Given the description of an element on the screen output the (x, y) to click on. 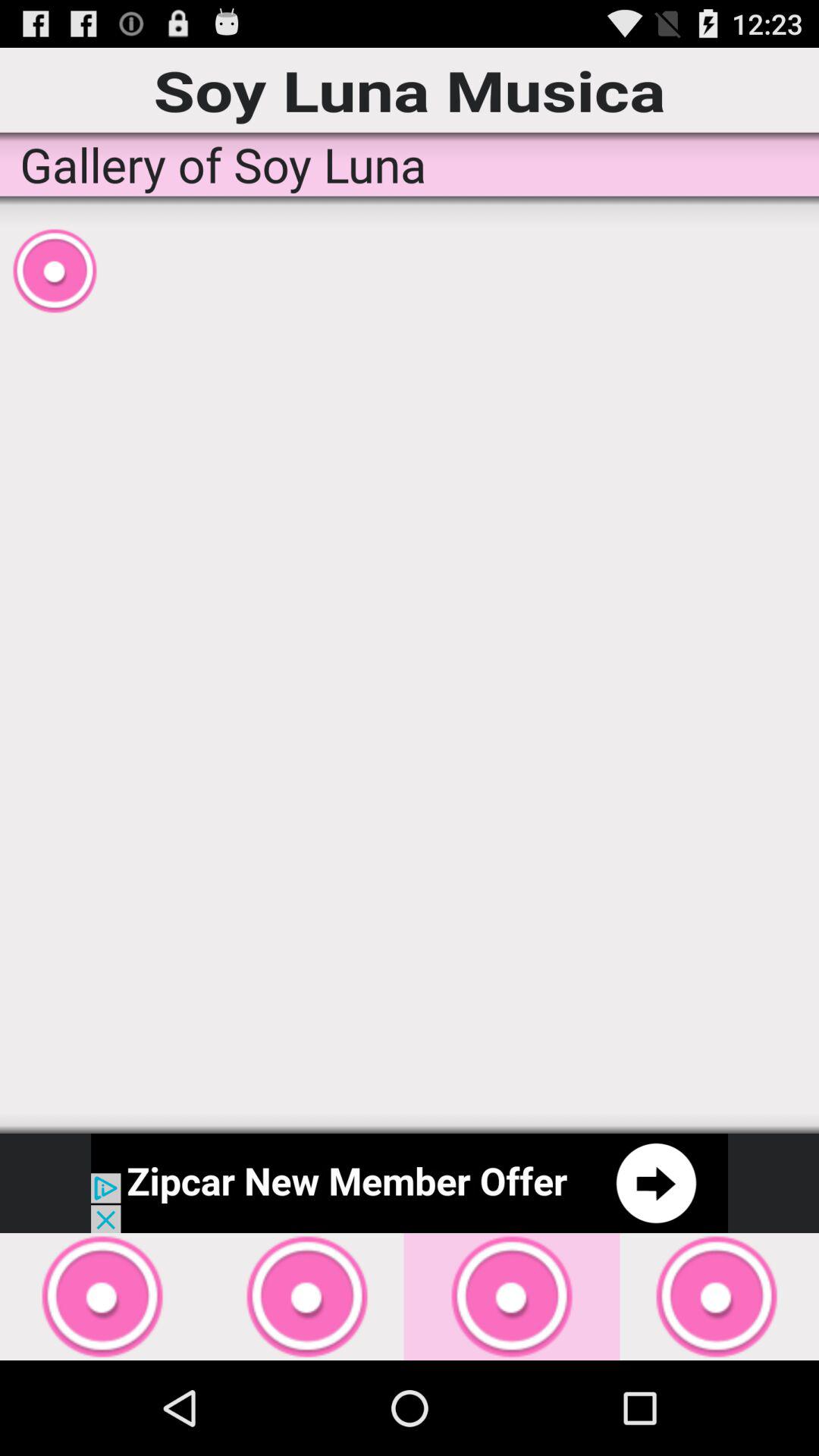
link to an advertisement site (409, 1183)
